Given the description of an element on the screen output the (x, y) to click on. 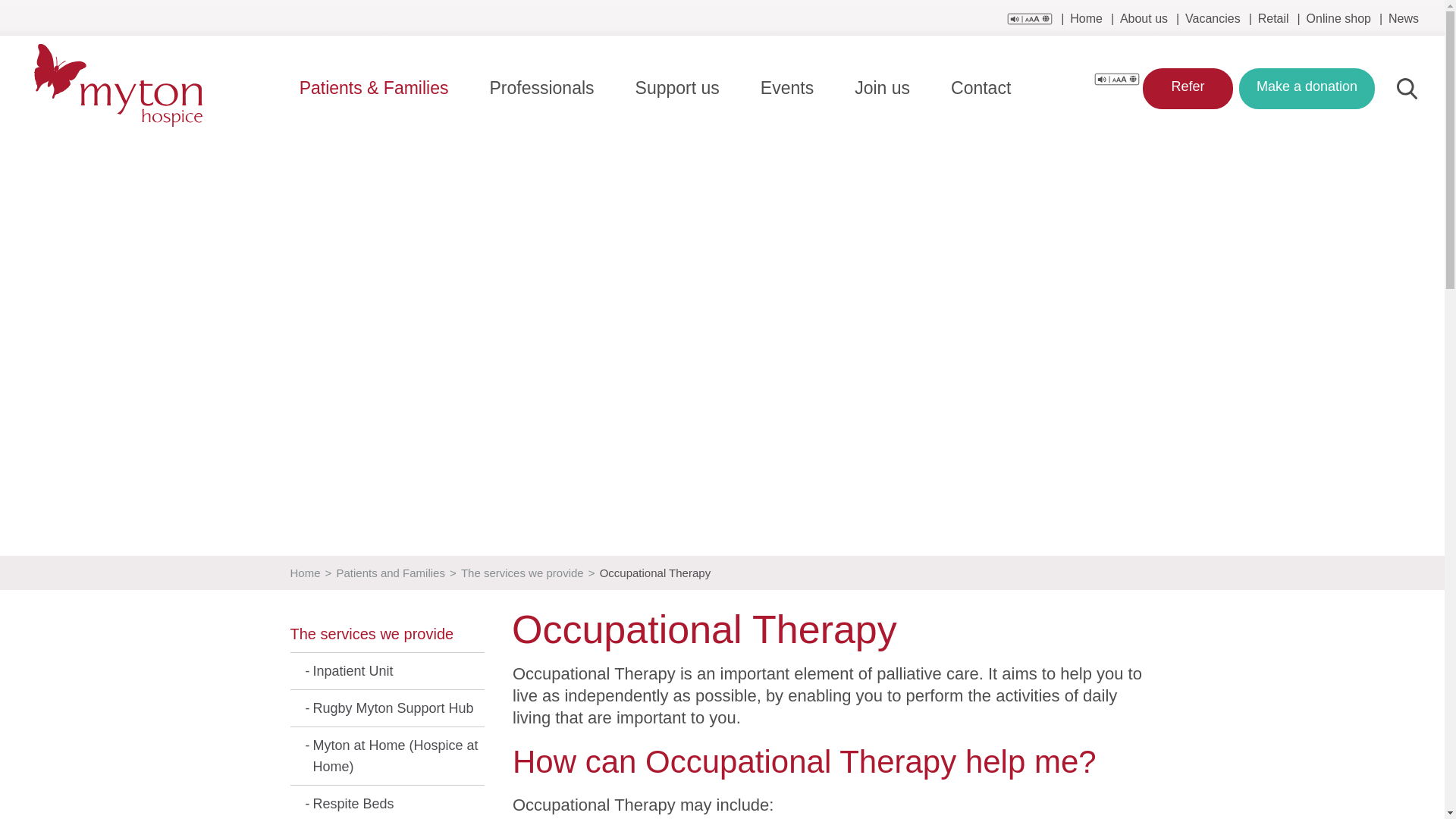
About us (1143, 18)
search (1406, 88)
Vacancies (1212, 18)
Retail (1272, 18)
Accessibility Tools (1117, 77)
Accessibility Tools (1029, 19)
Accessibility Tools (1117, 78)
News (1403, 18)
Make a donation (1306, 87)
Home (1086, 18)
